Given the description of an element on the screen output the (x, y) to click on. 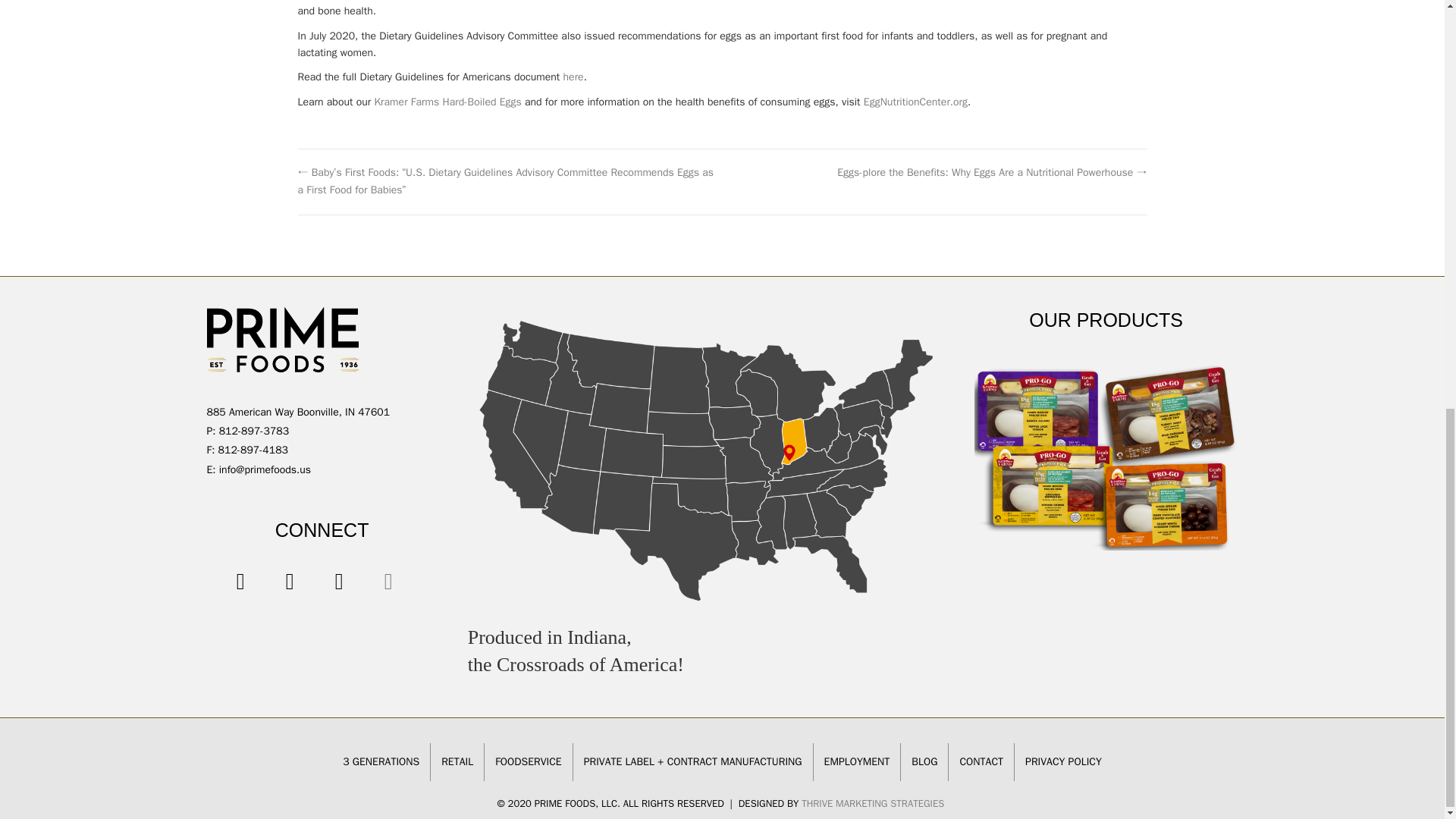
here (573, 76)
Kramer Farms Hard-Boiled Eggs (447, 101)
EggNutritionCenter.org (915, 101)
